Given the description of an element on the screen output the (x, y) to click on. 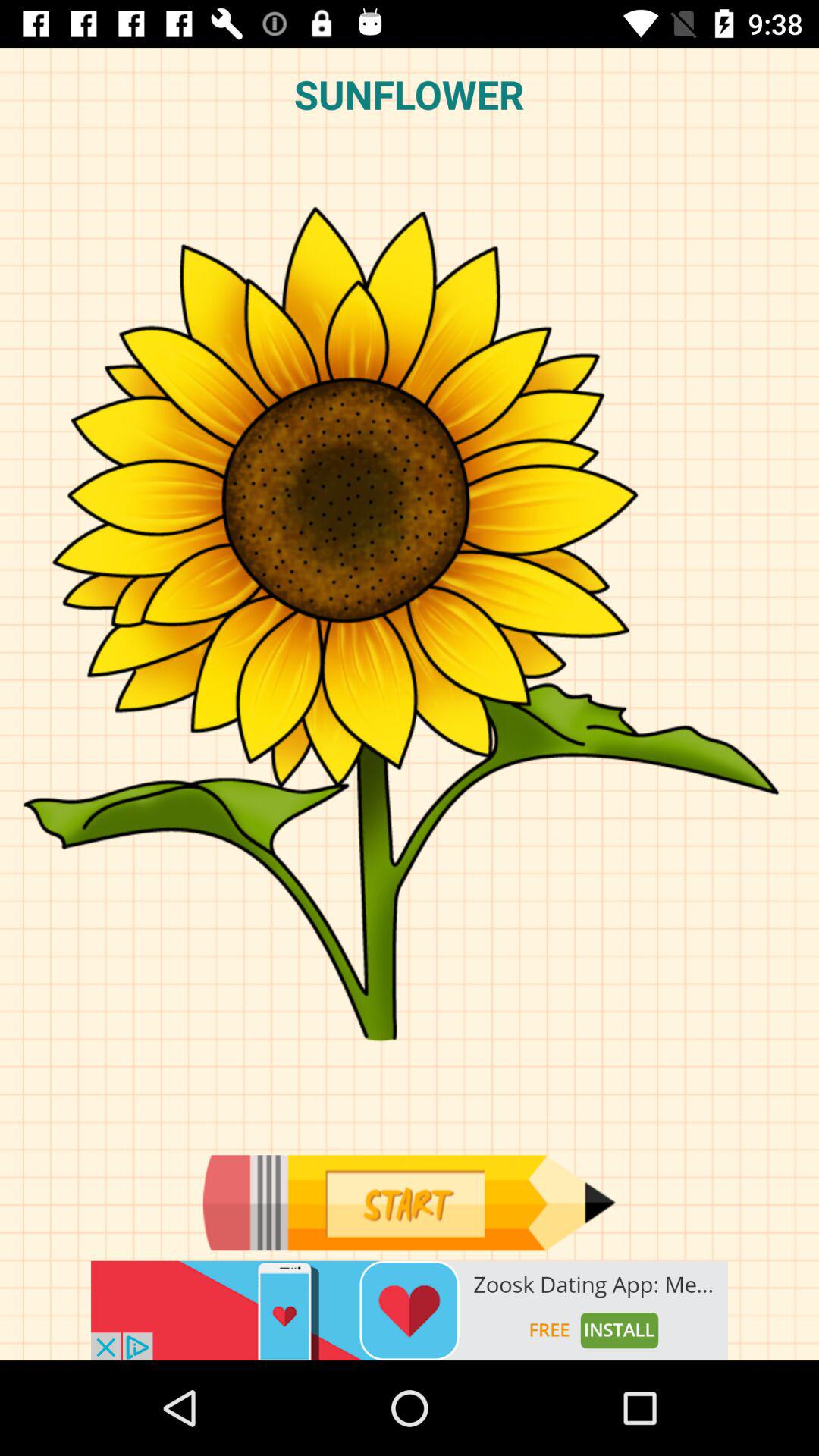
go to advertisement website (409, 1310)
